Given the description of an element on the screen output the (x, y) to click on. 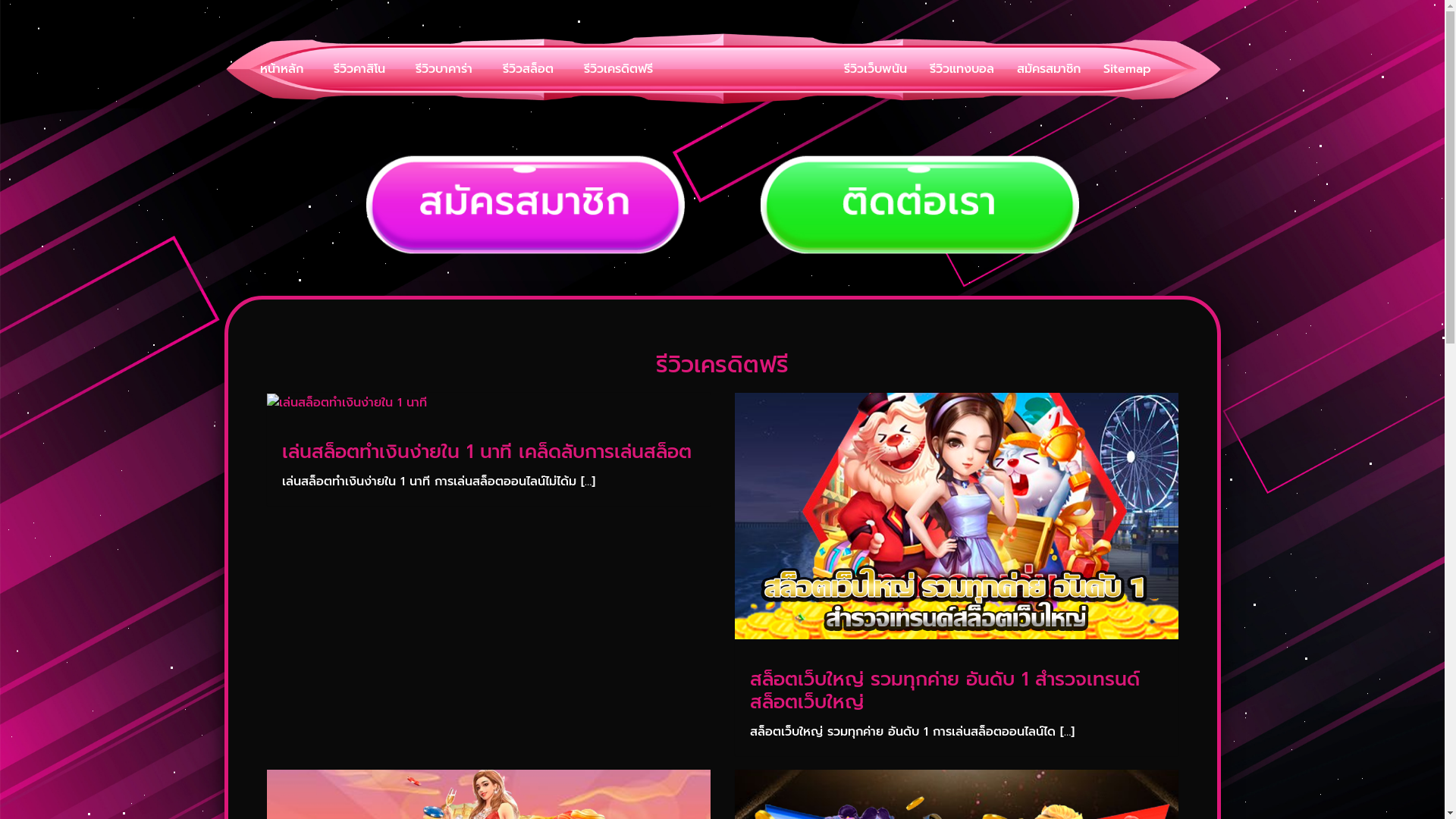
Sitemap Element type: text (1126, 68)
